Given the description of an element on the screen output the (x, y) to click on. 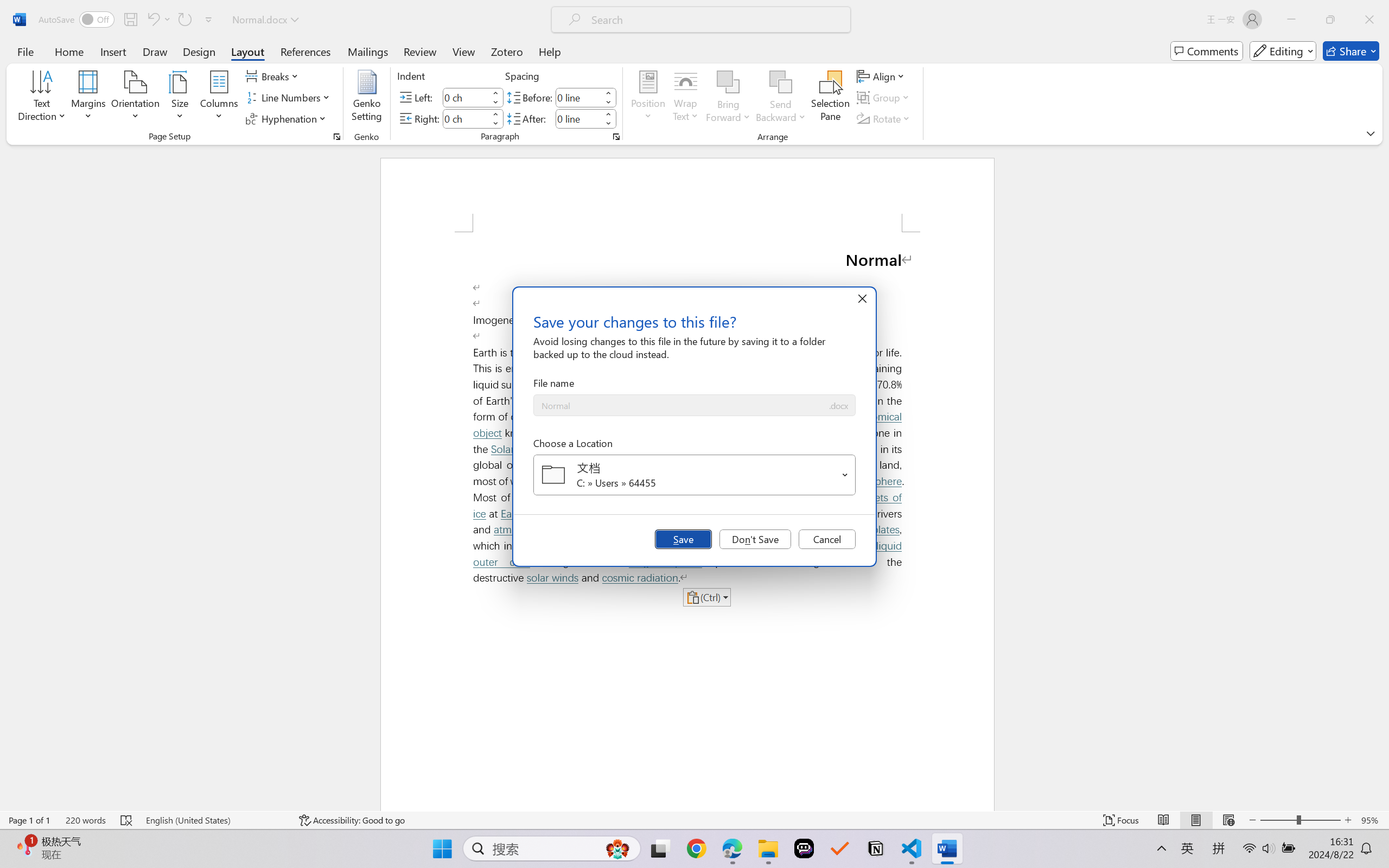
Choose a Location (694, 474)
